Given the description of an element on the screen output the (x, y) to click on. 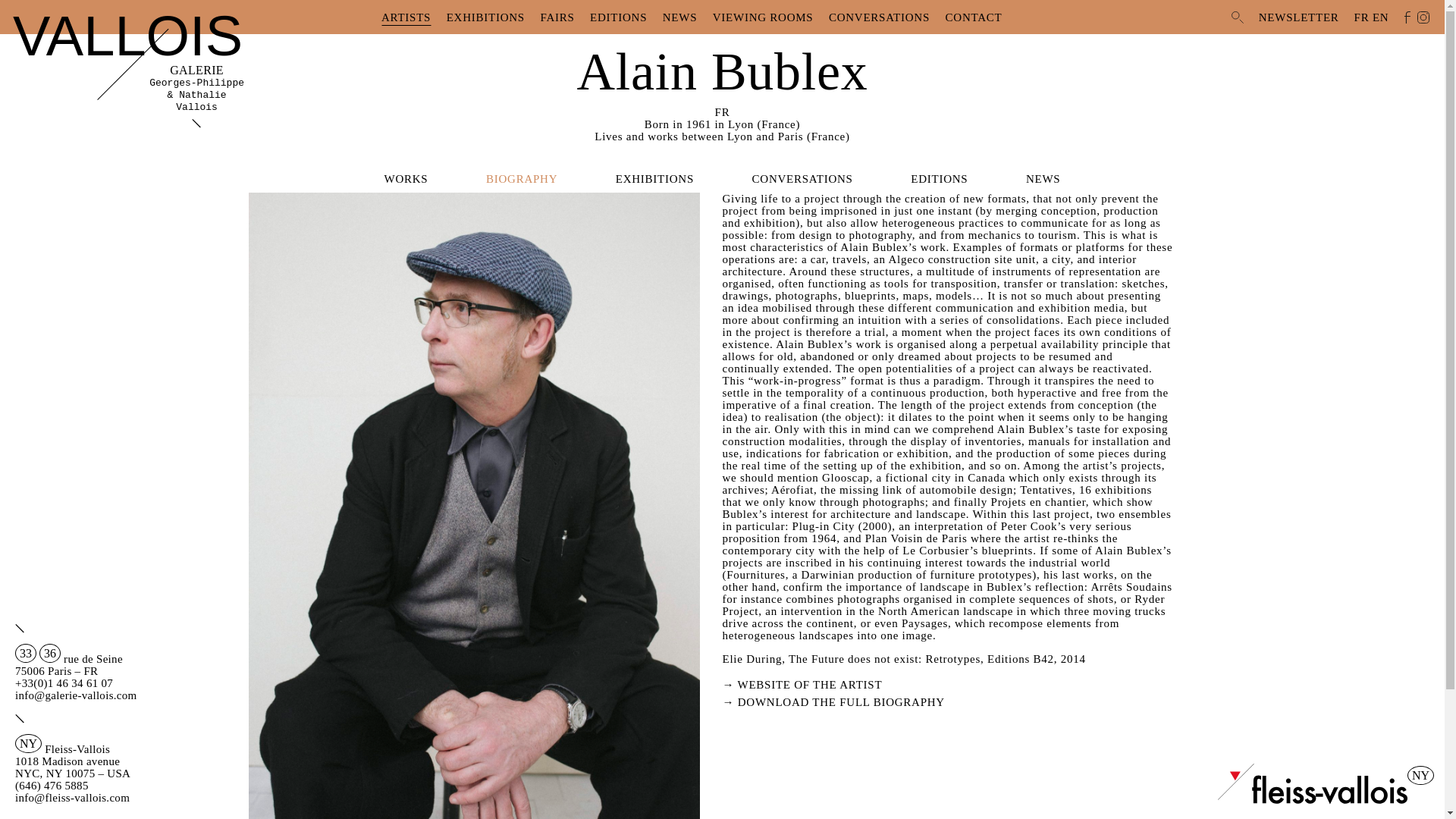
FAIRS (556, 17)
NEWS (1043, 178)
CONTACT (973, 17)
EN (1381, 18)
VIEWING ROOMS (763, 17)
EDITIONS (939, 178)
NEWS (679, 17)
NY (1312, 800)
WORKS (406, 178)
CONVERSATIONS (879, 17)
